Given the description of an element on the screen output the (x, y) to click on. 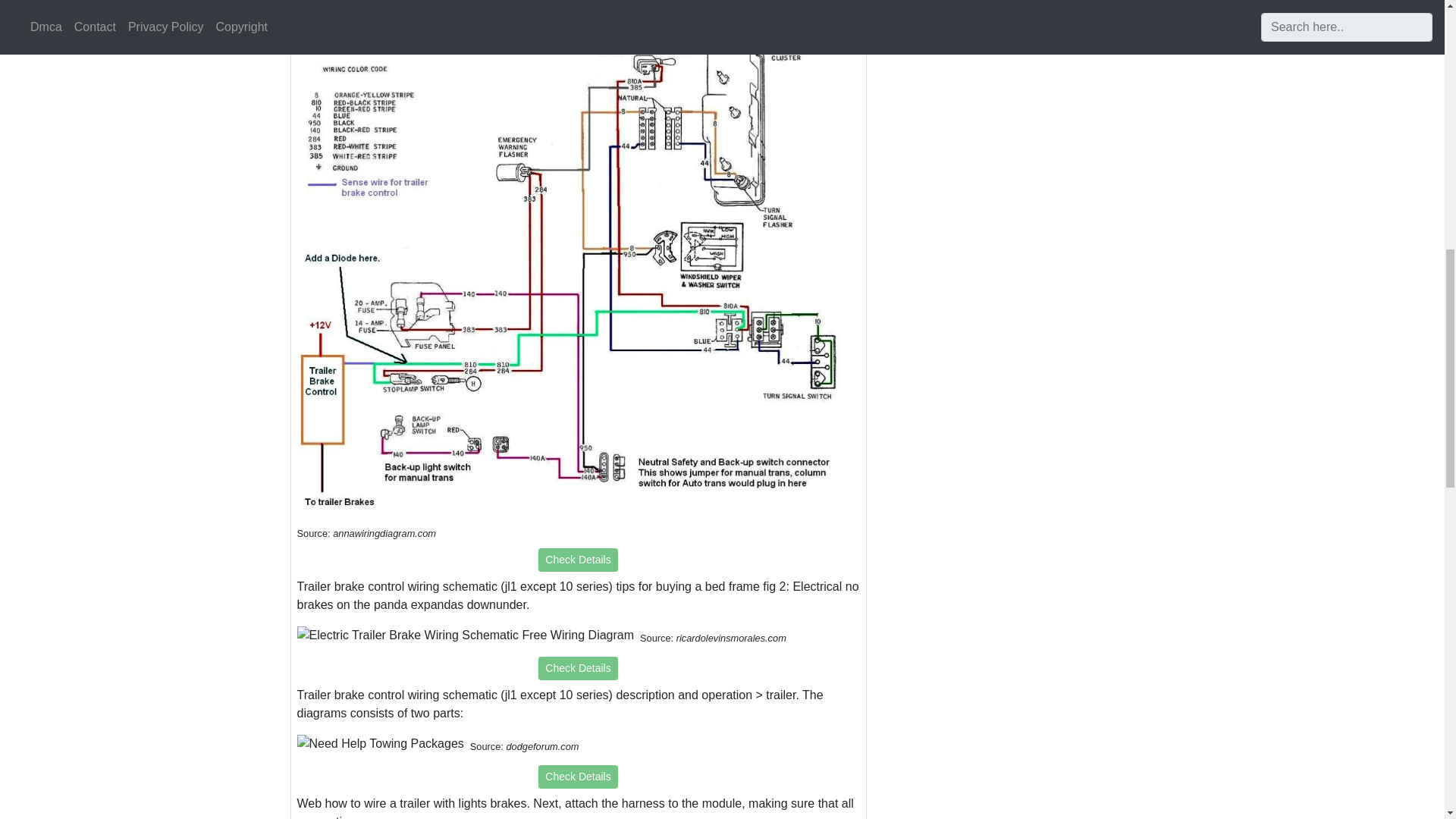
Check Details (577, 559)
Check Details (577, 776)
Check Details (577, 668)
